Given the description of an element on the screen output the (x, y) to click on. 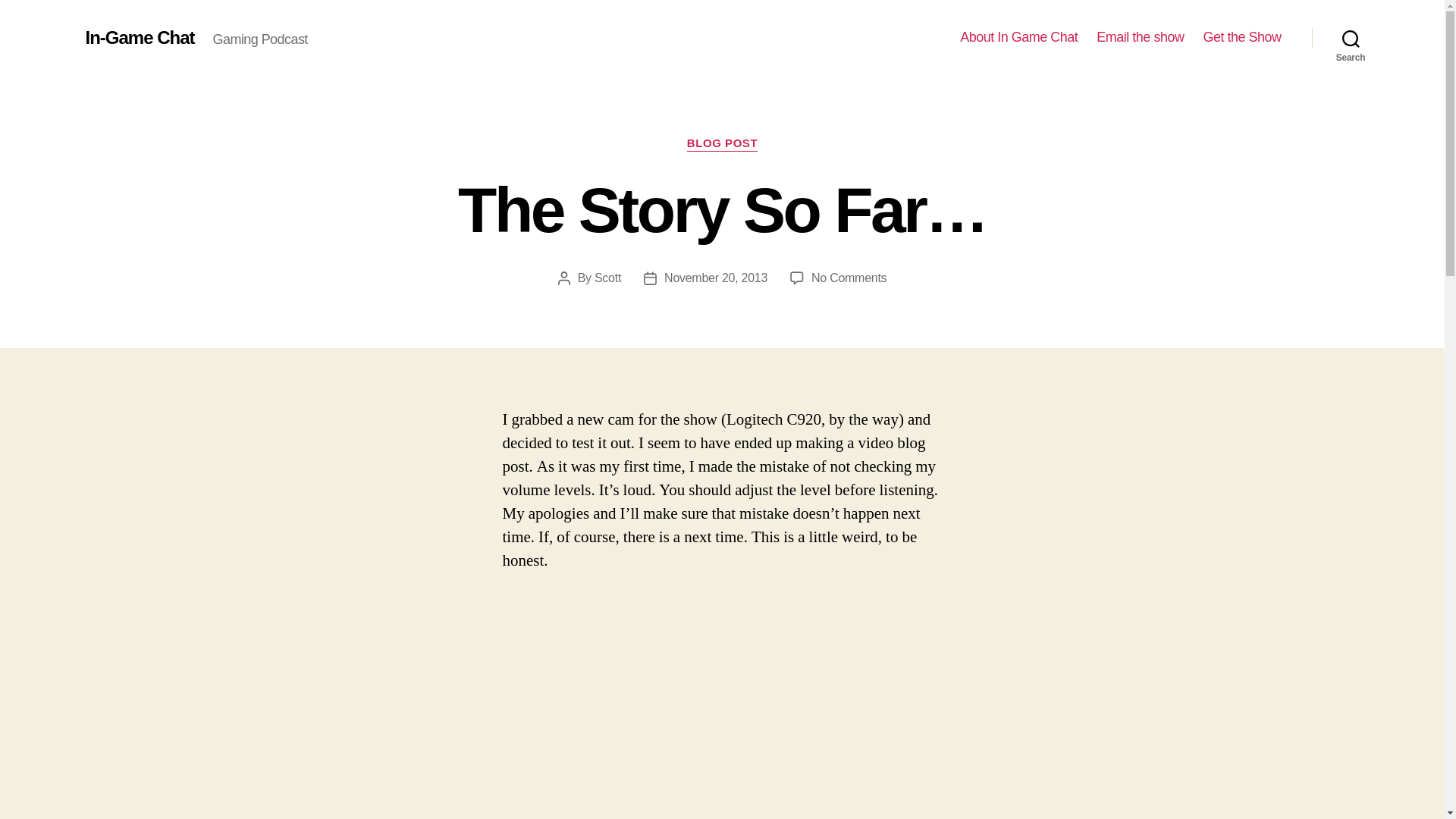
About In Game Chat (1018, 37)
In-Game Chat (138, 37)
November 20, 2013 (715, 277)
The Story So Far... (722, 706)
Search (1350, 37)
Get the Show (1241, 37)
Scott (607, 277)
Email the show (1139, 37)
BLOG POST (722, 143)
